Given the description of an element on the screen output the (x, y) to click on. 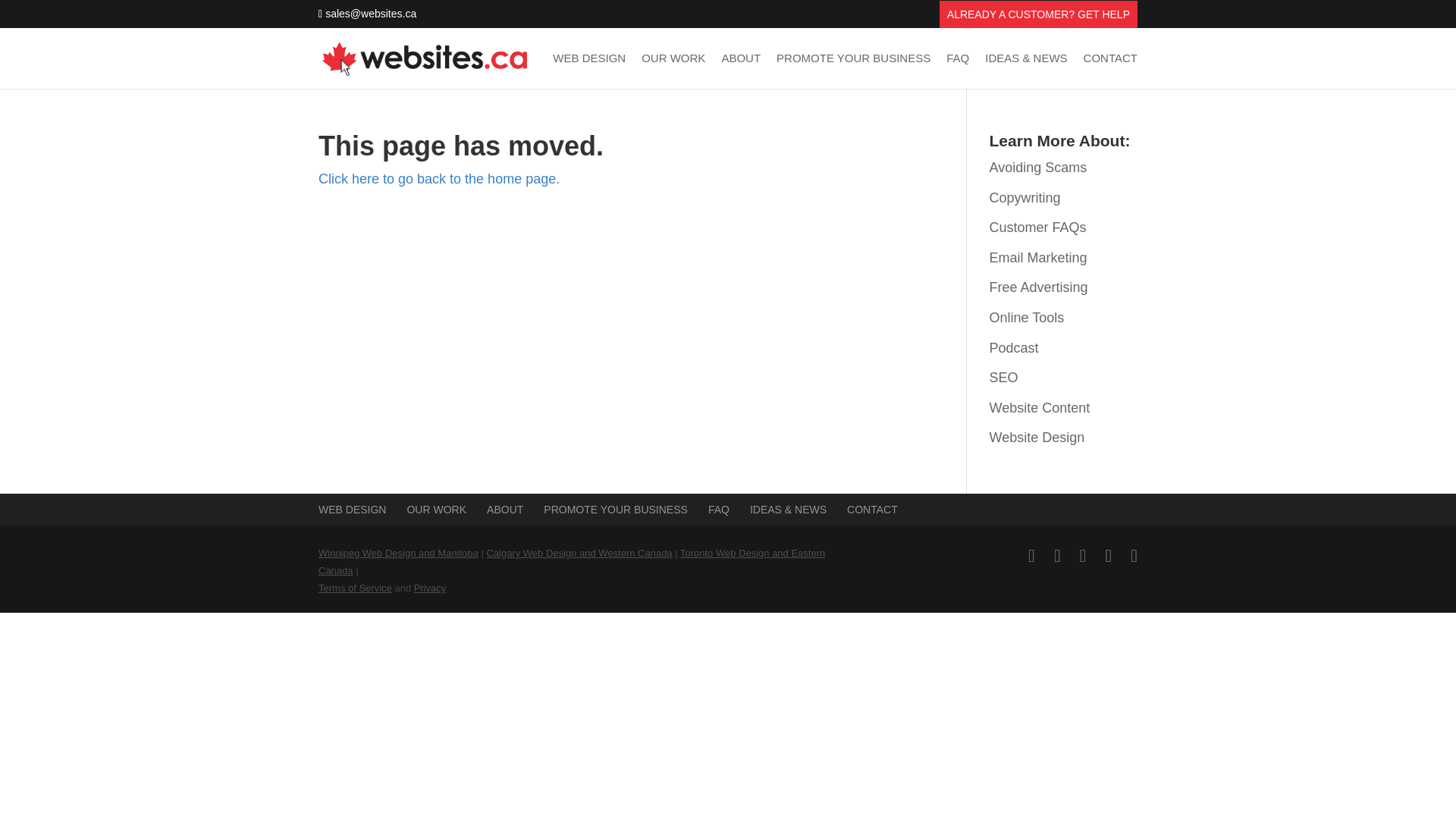
Copywriting (1025, 197)
WEB DESIGN (351, 509)
FAQ (718, 509)
Customer FAQs (1038, 227)
Online Tools (1027, 317)
OUR WORK (673, 70)
ABOUT (504, 509)
Avoiding Scams (1038, 167)
ALREADY A CUSTOMER? GET HELP (1038, 18)
Free Advertising (1038, 287)
WEB DESIGN (589, 70)
PROMOTE YOUR BUSINESS (853, 70)
SEO (1003, 377)
CONTACT (872, 509)
Email Marketing (1038, 257)
